Given the description of an element on the screen output the (x, y) to click on. 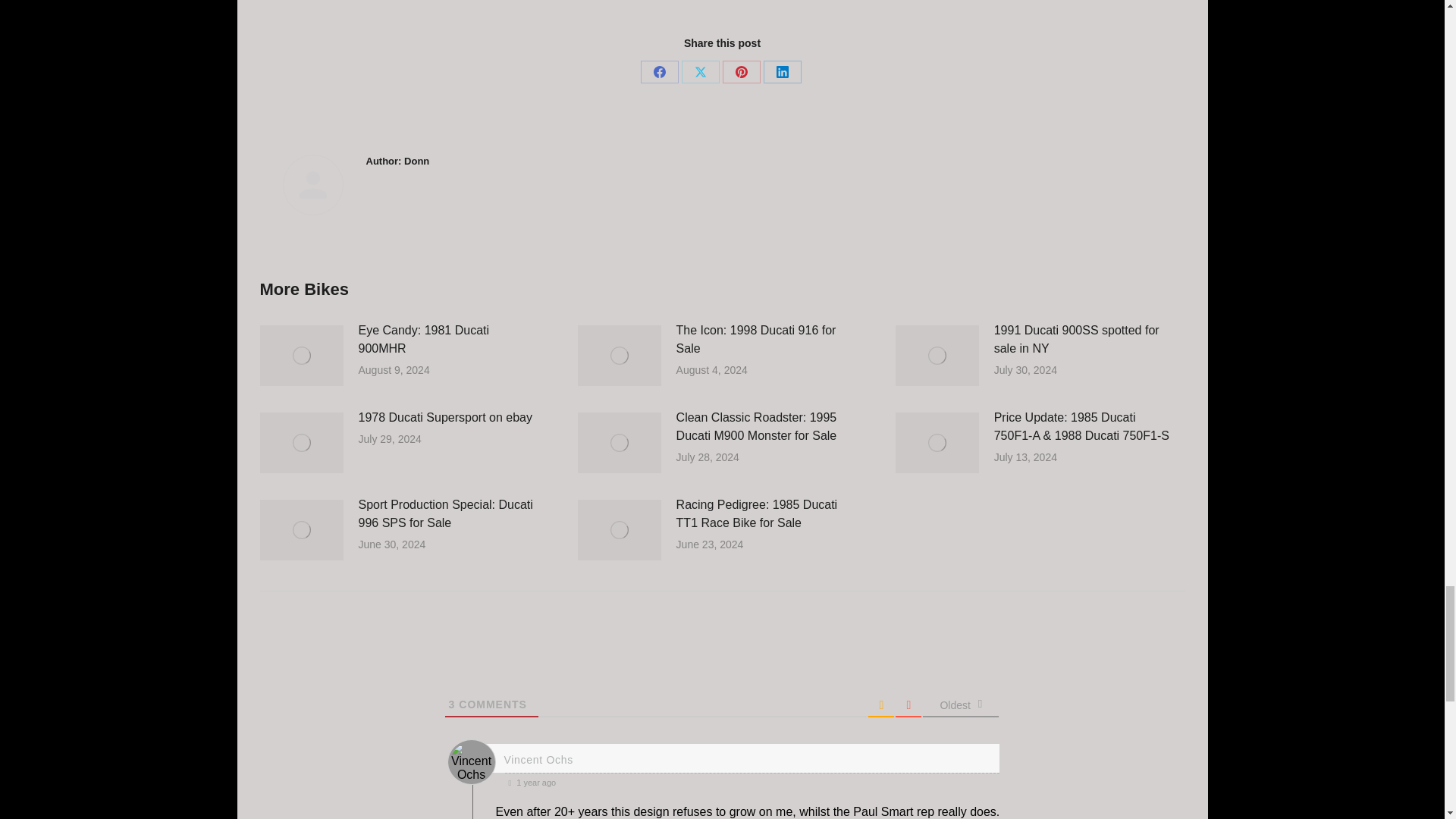
LinkedIn (781, 71)
Facebook (659, 71)
Pinterest (741, 71)
X (700, 71)
May 13, 2023 9:01 am (752, 782)
